Given the description of an element on the screen output the (x, y) to click on. 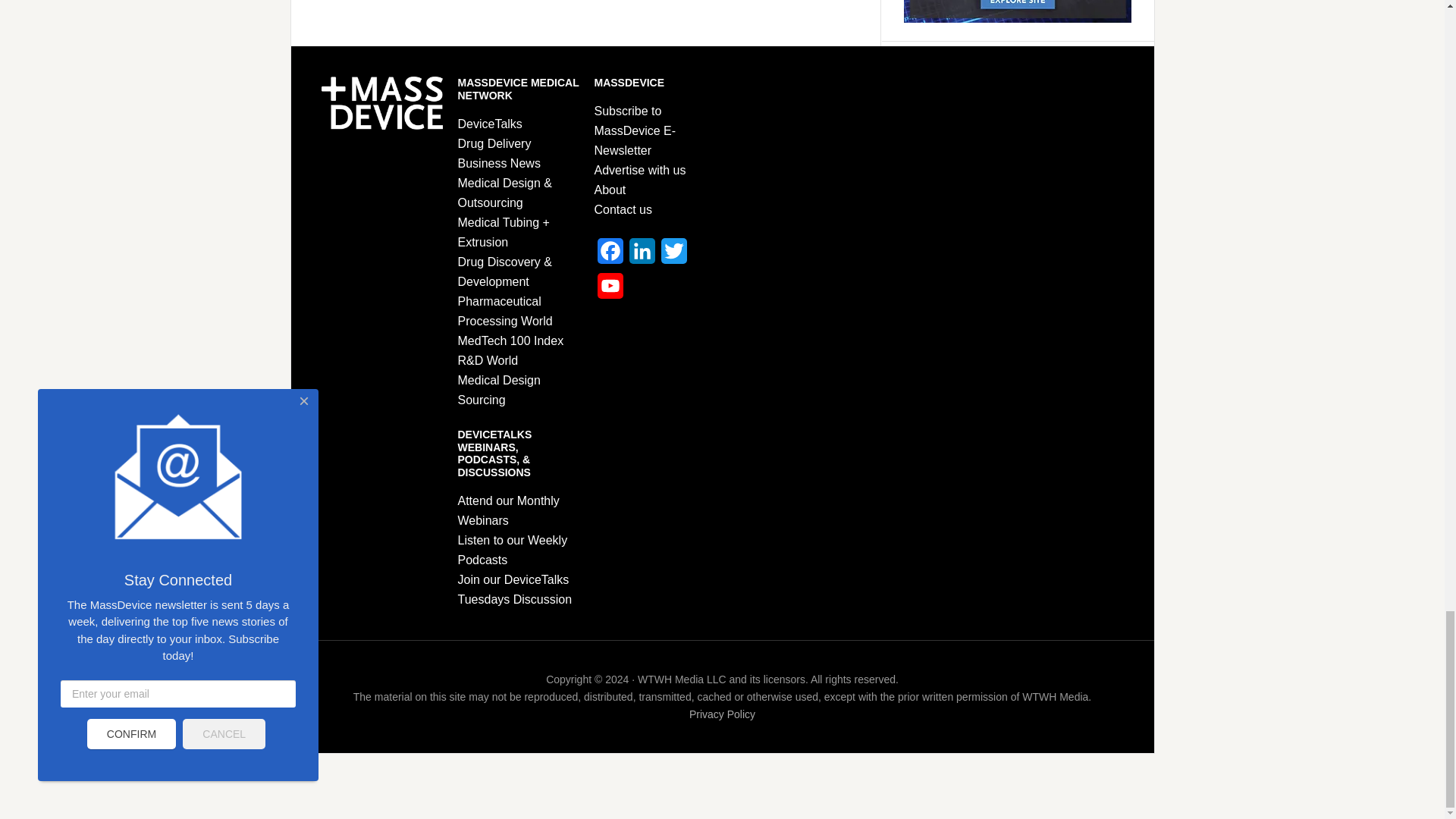
Facebook (610, 255)
YouTube Channel (610, 289)
Twitter (674, 255)
LinkedIn Company (642, 255)
